Given the description of an element on the screen output the (x, y) to click on. 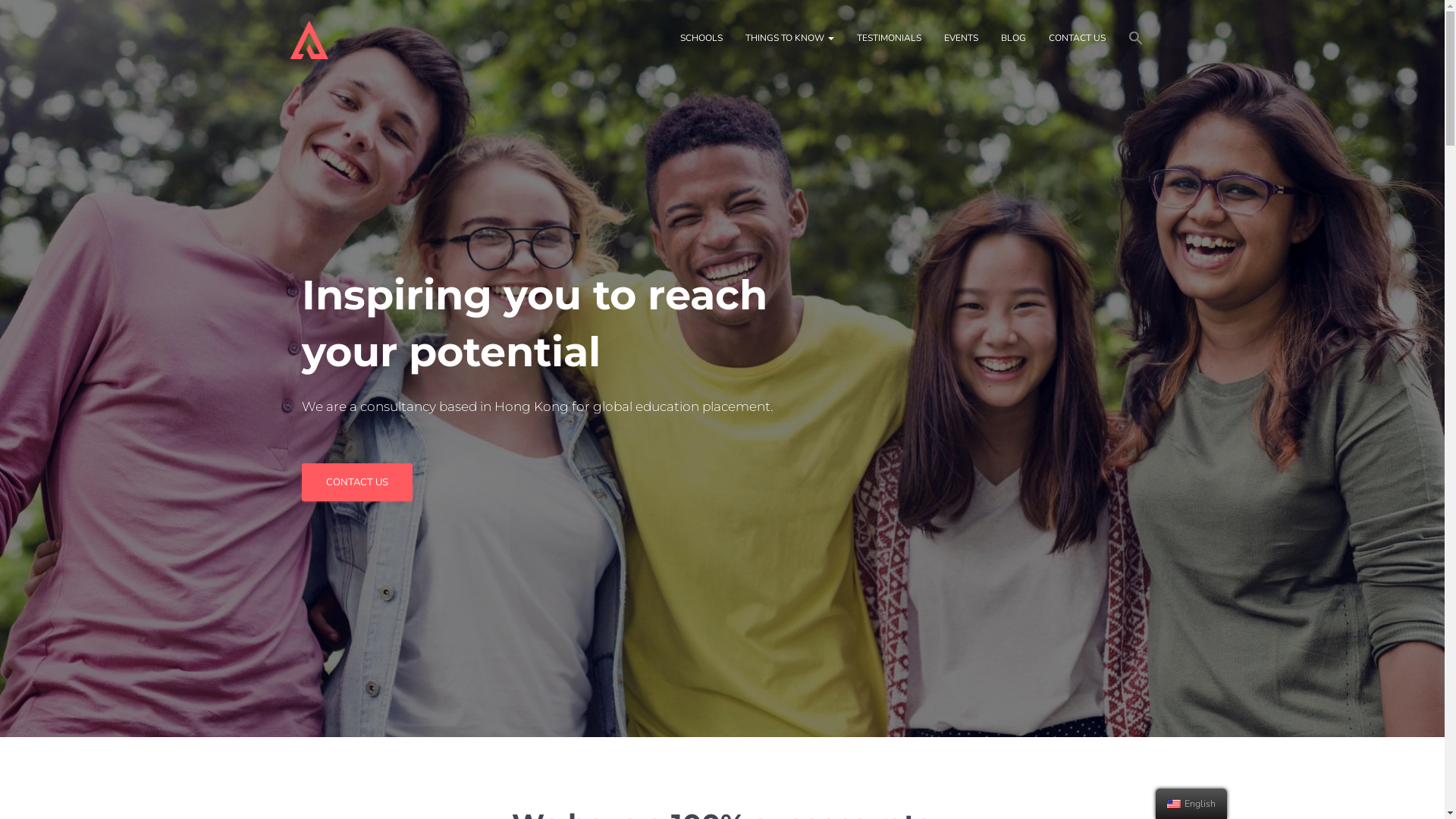
TESTIMONIALS Element type: text (887, 37)
BLOG Element type: text (1012, 37)
SCHOOLS Element type: text (701, 37)
EVENTS Element type: text (960, 37)
THINGS TO KNOW Element type: text (789, 37)
CONTACT US Element type: text (356, 482)
Academic Advisers Element type: hover (309, 40)
CONTACT US Element type: text (1077, 37)
English Element type: hover (1173, 803)
